Given the description of an element on the screen output the (x, y) to click on. 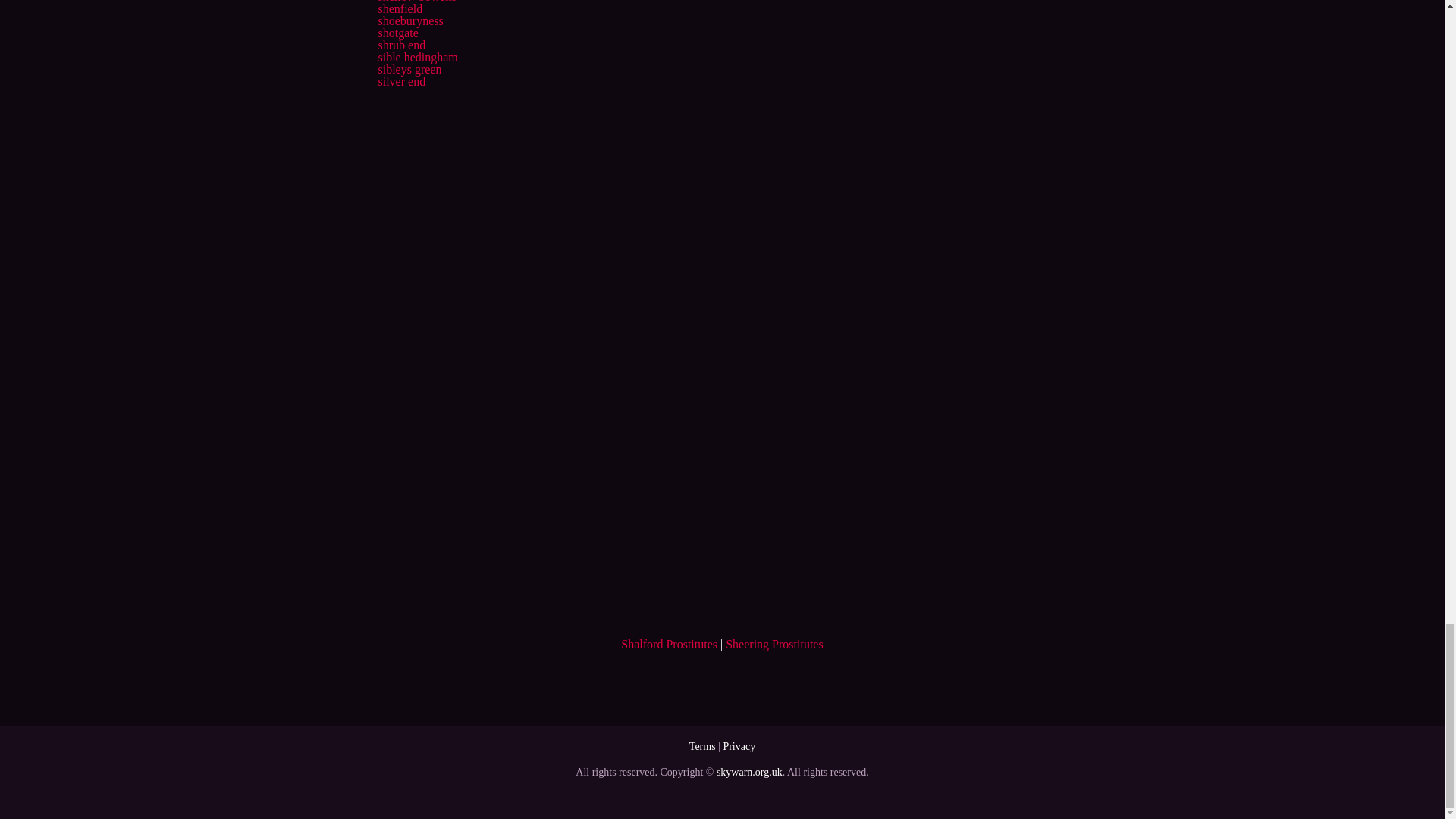
Shalford Prostitutes (669, 644)
shellow bowells (417, 1)
shoeburyness (409, 20)
skywarn.org.uk (749, 772)
sibleys green (409, 69)
Sheering Prostitutes (773, 644)
Privacy (738, 746)
silver end (401, 81)
sible hedingham (417, 56)
shrub end (401, 44)
